Given the description of an element on the screen output the (x, y) to click on. 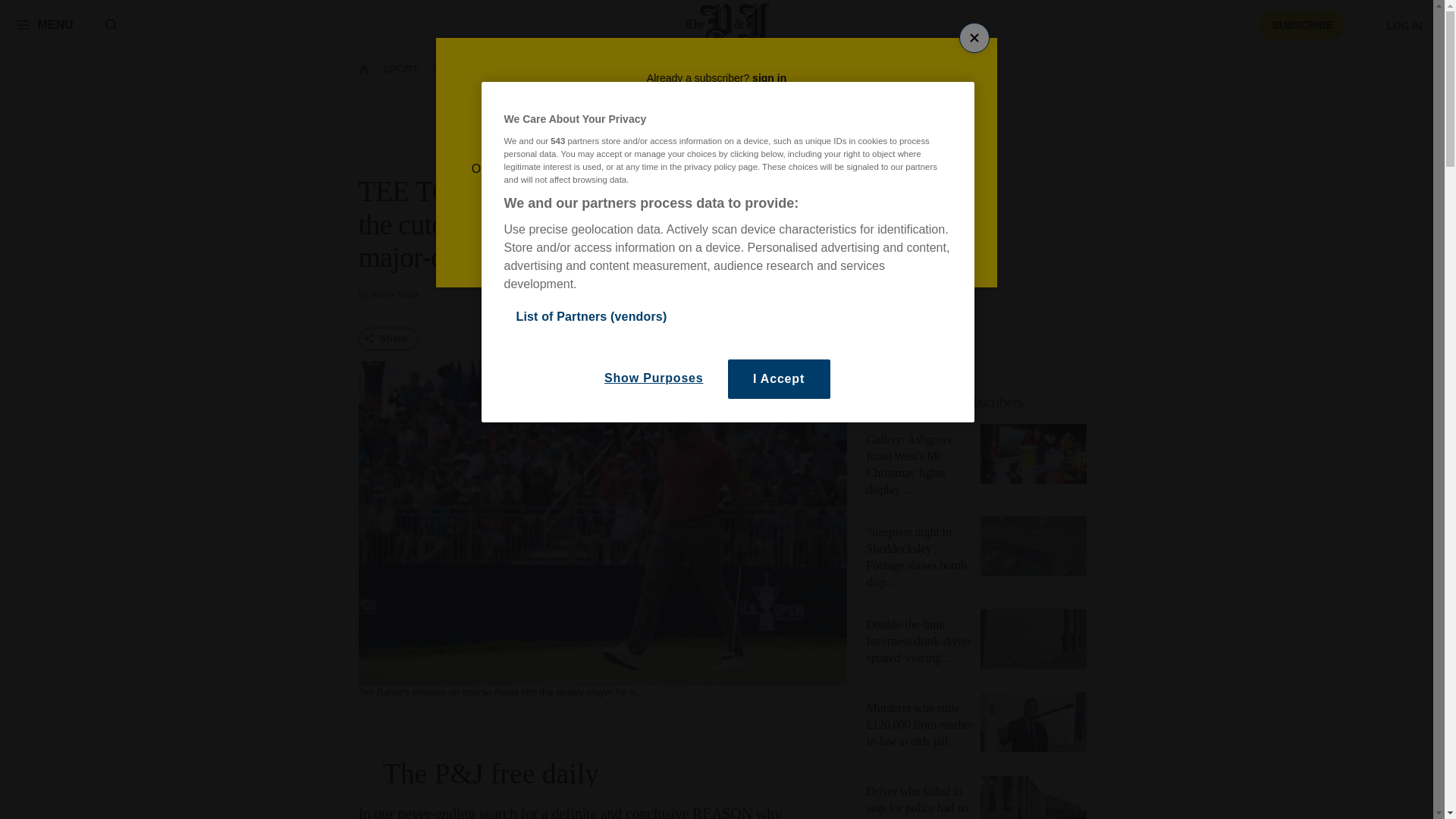
MENU (44, 24)
Exclusive to our subscribers (981, 402)
Press and Journal (727, 24)
Exclusive to our subscribers (944, 402)
